Given the description of an element on the screen output the (x, y) to click on. 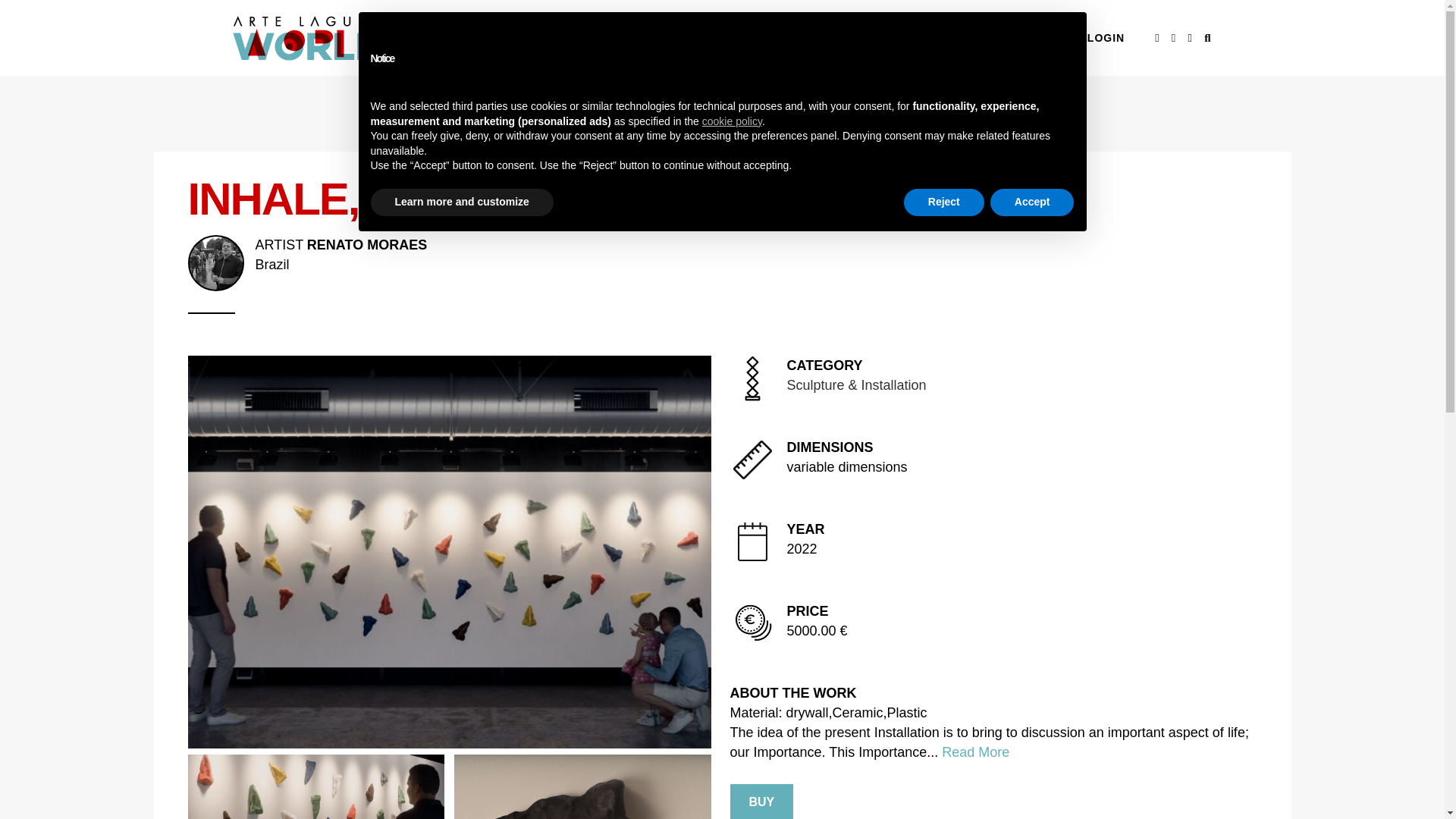
Works (722, 254)
SERVICES (751, 38)
Contact (890, 38)
View this category (1032, 38)
WORKS (856, 385)
CONTACT (751, 38)
